Given the description of an element on the screen output the (x, y) to click on. 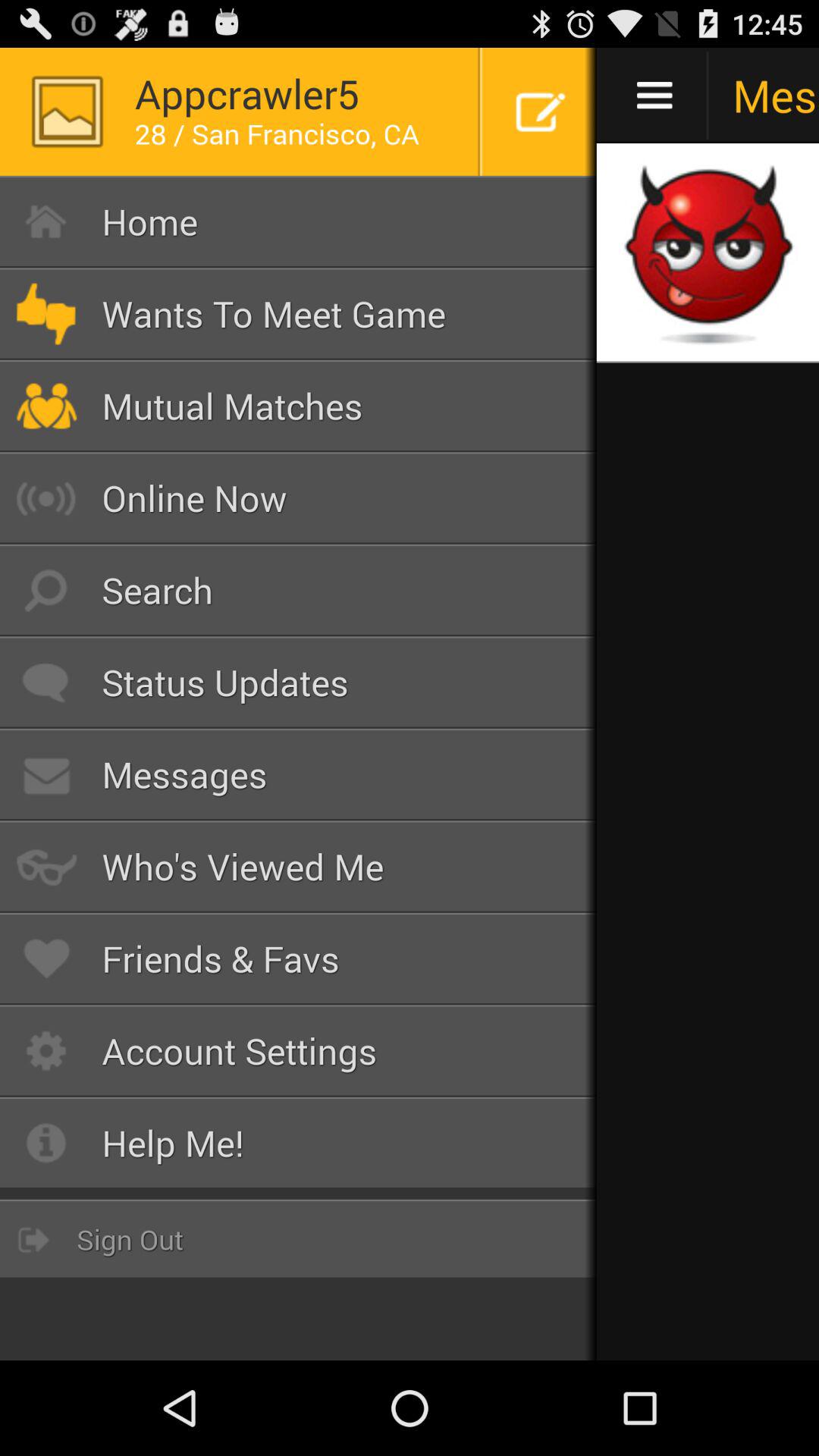
tap button below home item (298, 313)
